Given the description of an element on the screen output the (x, y) to click on. 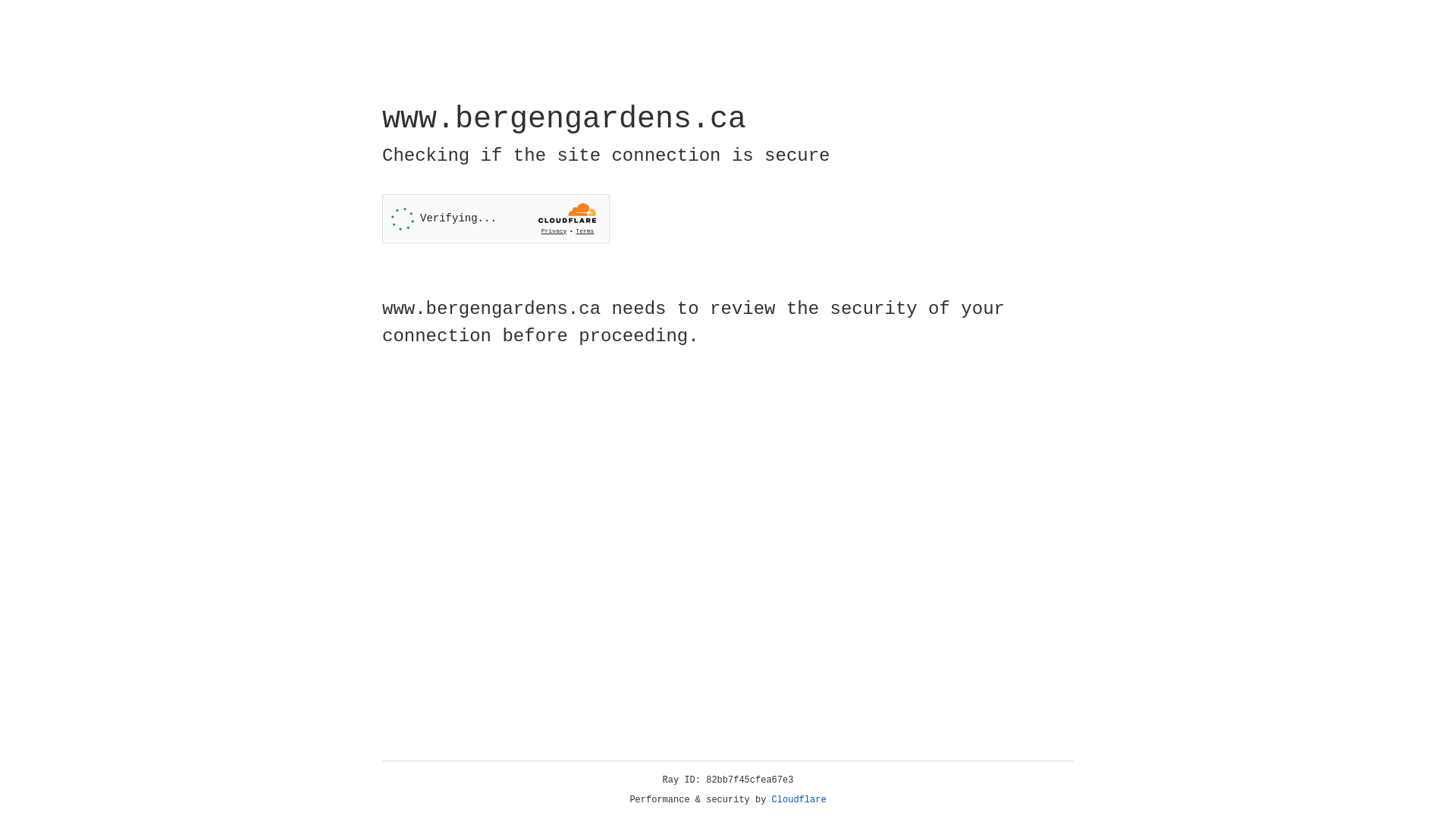
Cloudflare Element type: text (798, 799)
Widget containing a Cloudflare security challenge Element type: hover (495, 218)
